Given the description of an element on the screen output the (x, y) to click on. 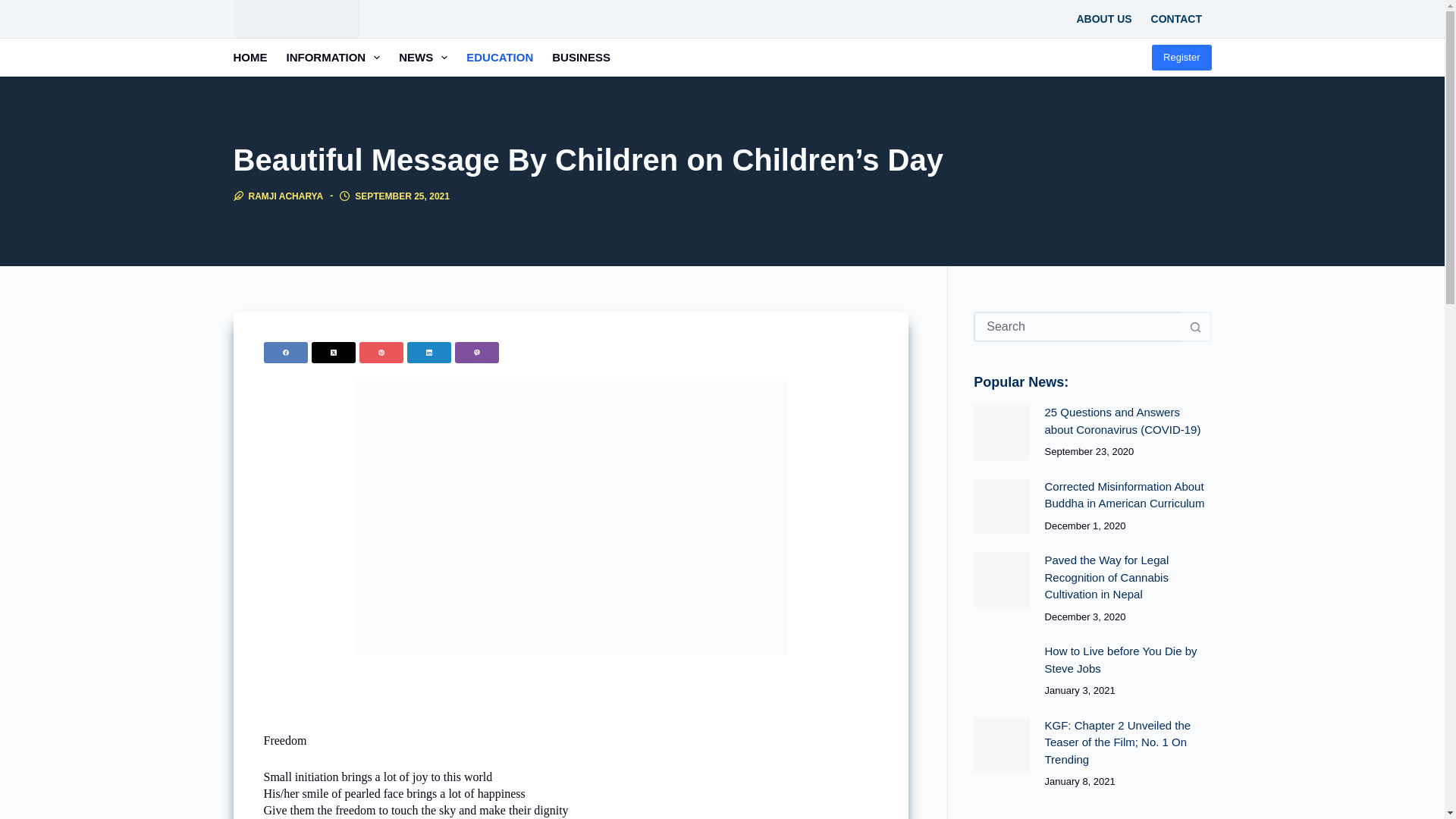
HOME (255, 57)
Posts by Ramji Acharya (285, 195)
Skip to content (15, 7)
ABOUT US (1104, 18)
INFORMATION (333, 57)
Search for... (1077, 327)
CONTACT (1176, 18)
NEWS (423, 57)
Beautiful Message By Children on Children's Day (571, 517)
